Given the description of an element on the screen output the (x, y) to click on. 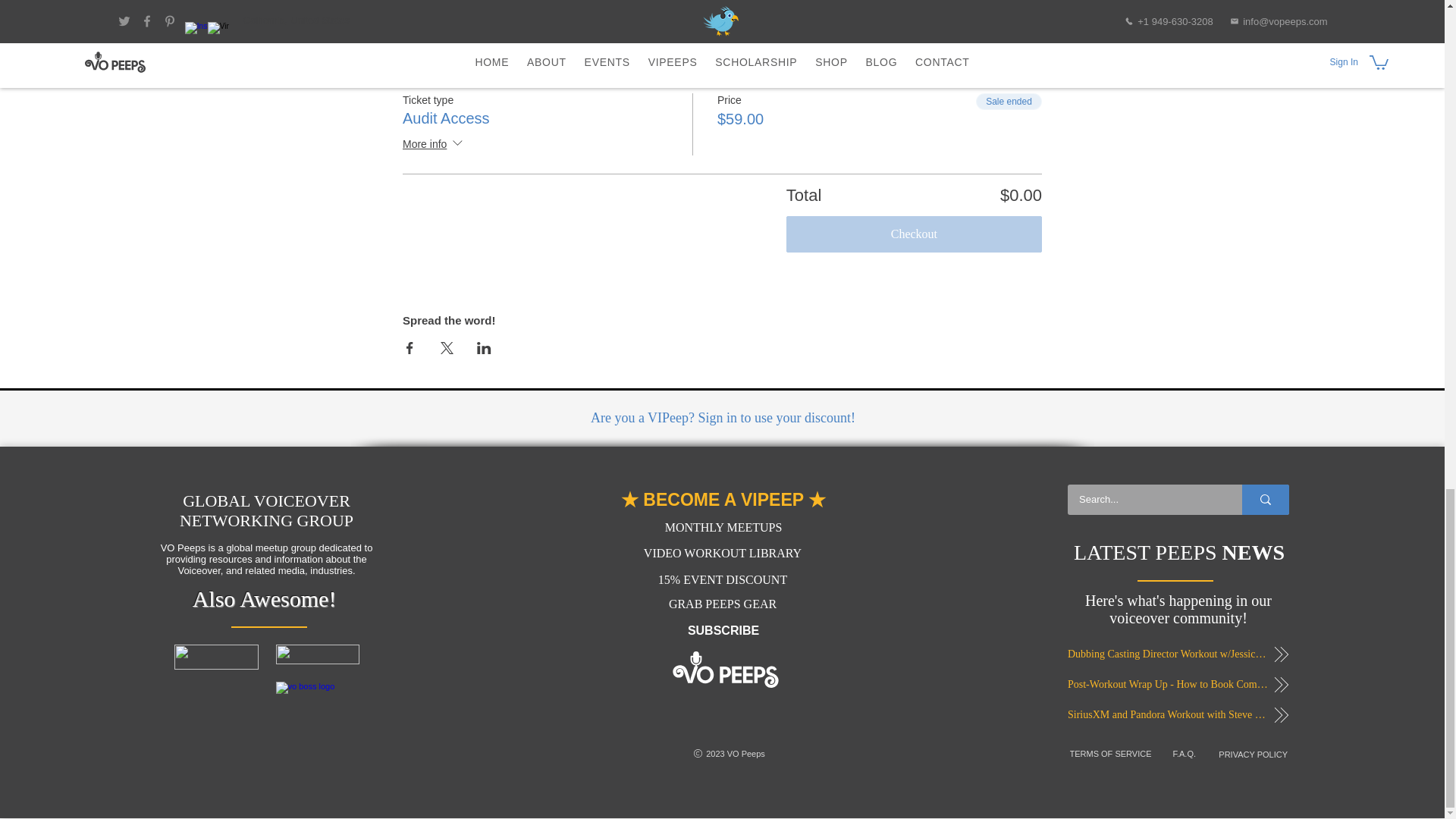
More info (434, 145)
More info (434, 46)
Checkout (914, 234)
